Given the description of an element on the screen output the (x, y) to click on. 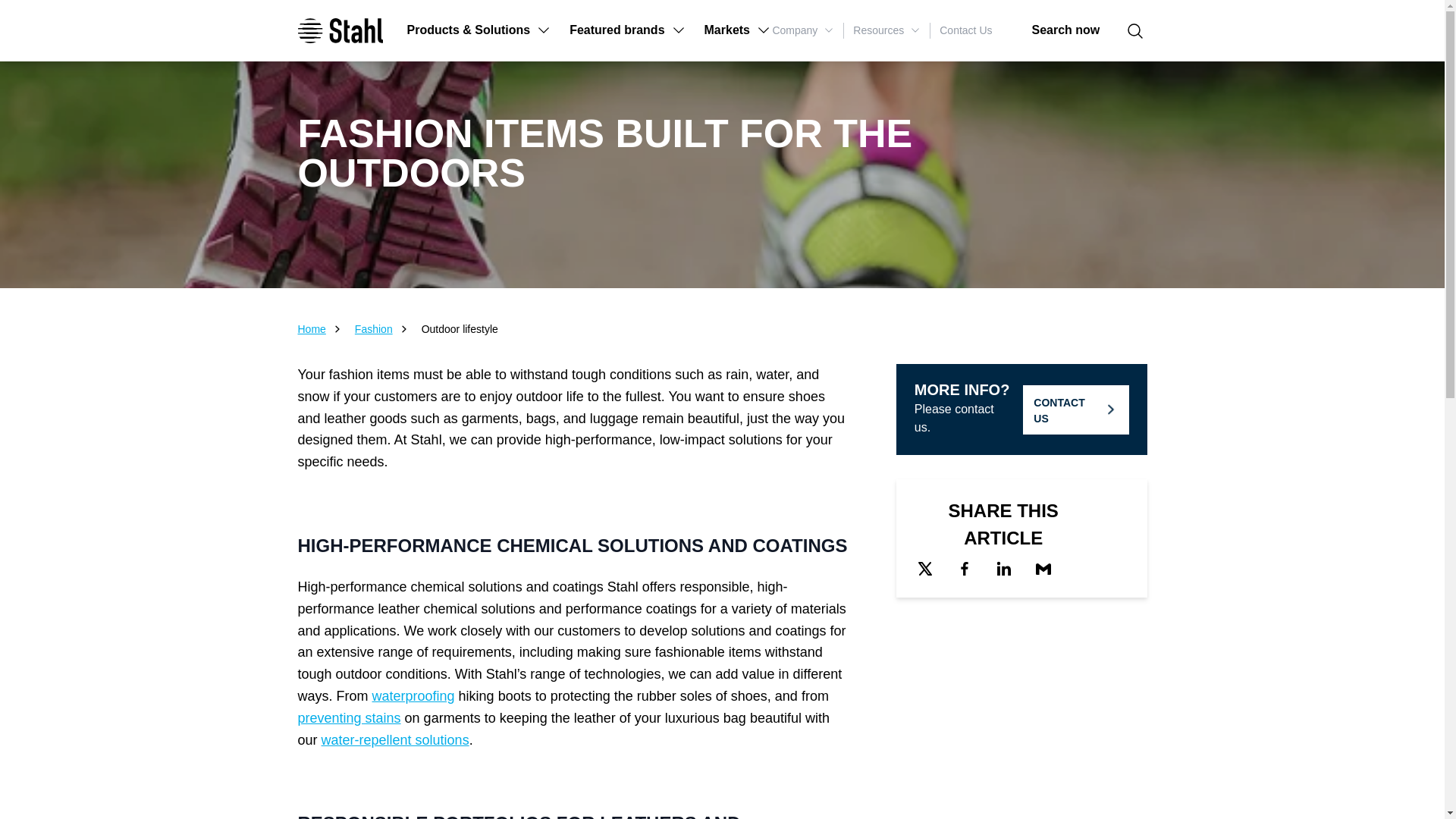
preventing stains (348, 717)
Resources (886, 30)
water-repellent solutions (394, 739)
Home (310, 328)
Fashion (374, 328)
Markets (737, 30)
waterproofing (413, 695)
Company (802, 30)
CONTACT US (1075, 409)
Contact Us (965, 30)
Featured brands (627, 30)
